Given the description of an element on the screen output the (x, y) to click on. 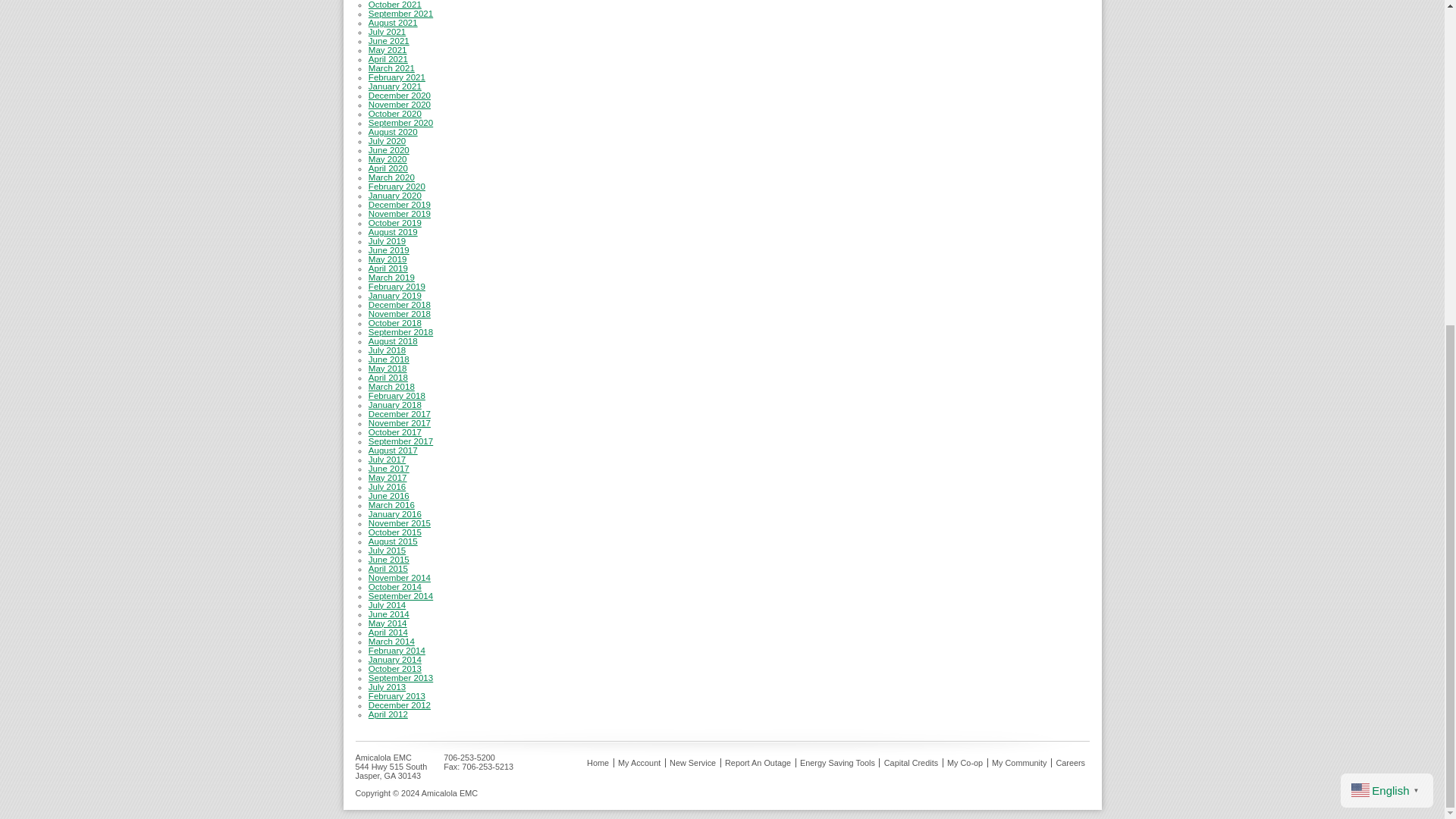
Georgia (390, 775)
